Given the description of an element on the screen output the (x, y) to click on. 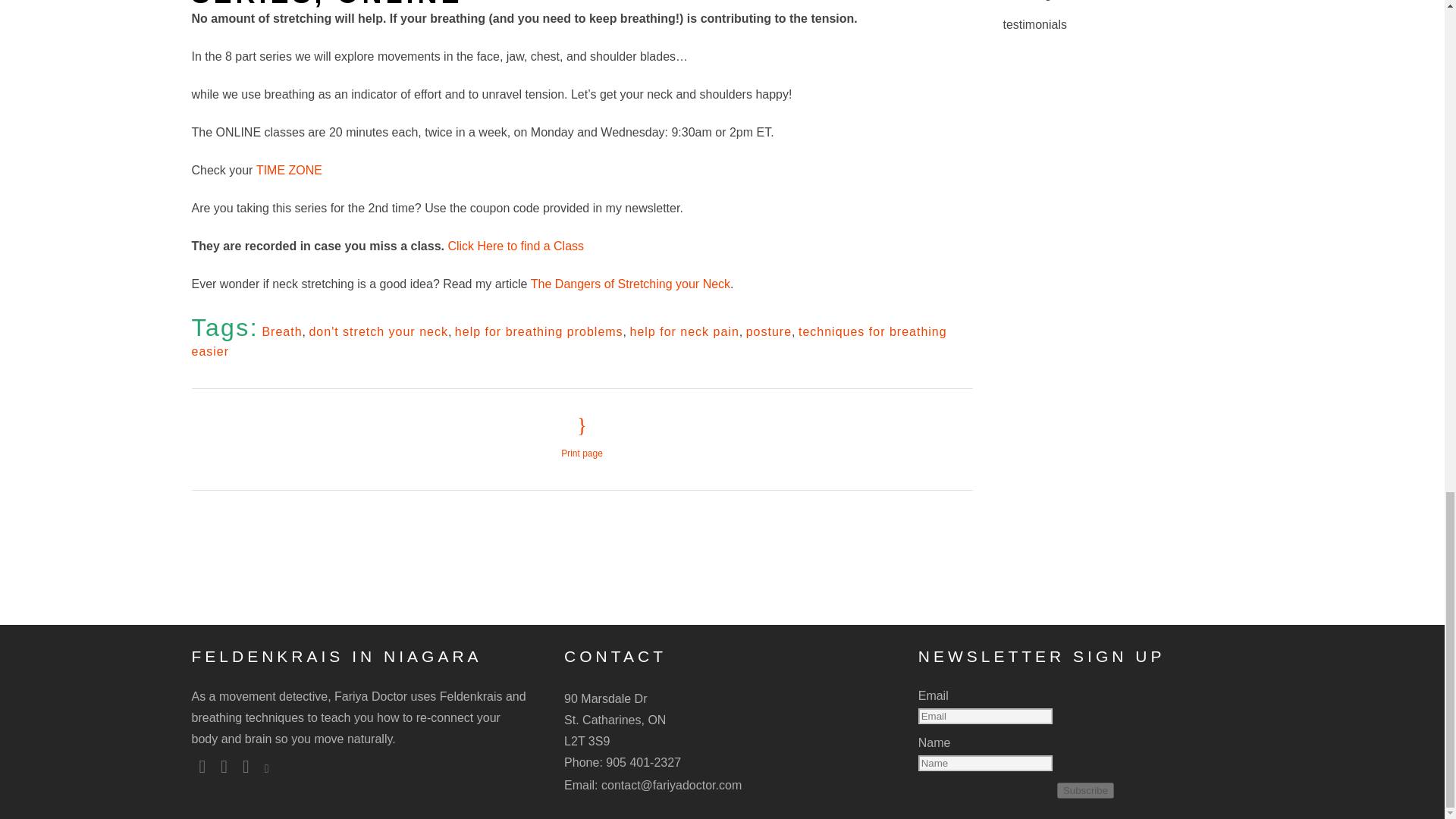
TIME ZONE (288, 169)
Breath (281, 331)
The Dangers of Stretching your Neck (630, 283)
Click Here to find a Class (514, 245)
